Given the description of an element on the screen output the (x, y) to click on. 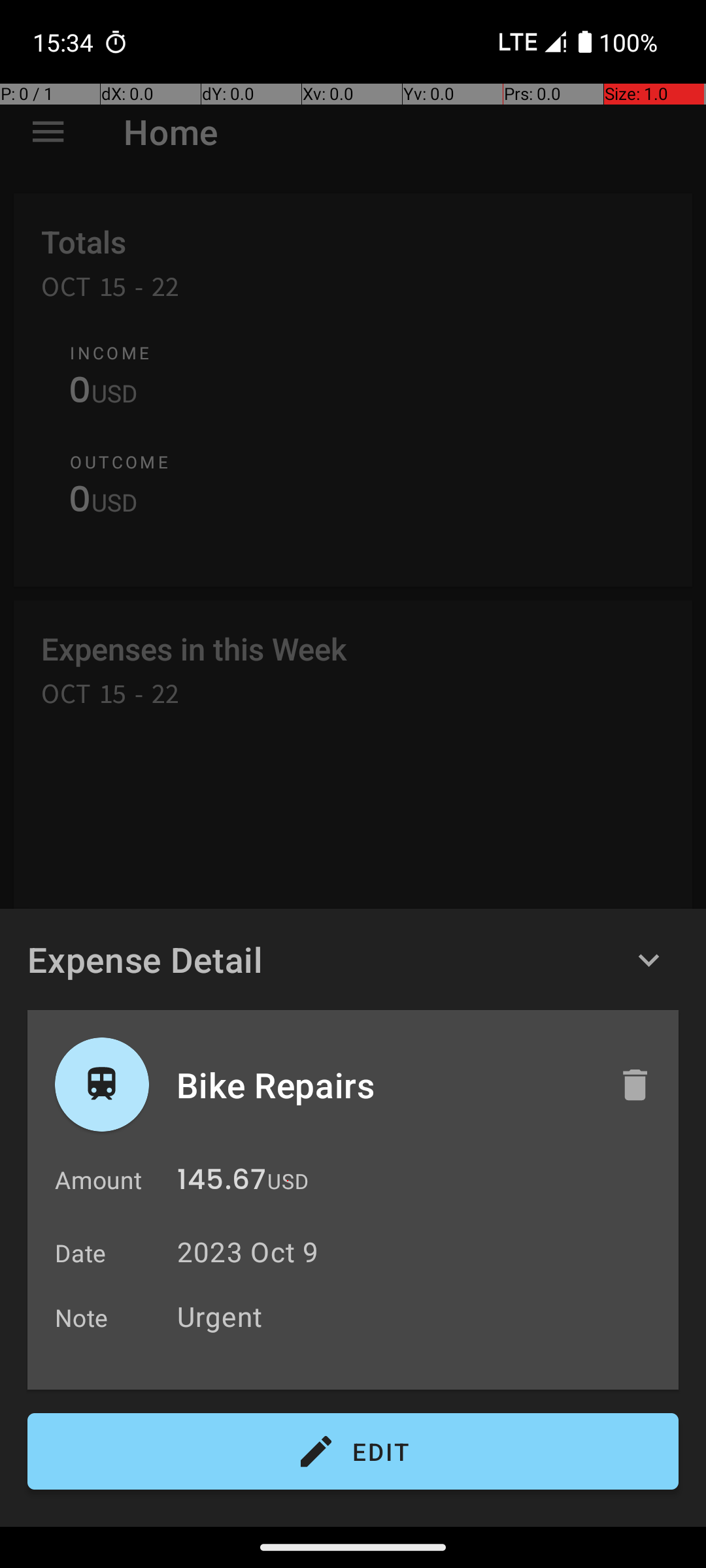
Bike Repairs Element type: android.widget.TextView (383, 1084)
145.67 Element type: android.widget.TextView (221, 1182)
Urgent Element type: android.widget.TextView (420, 1315)
